Given the description of an element on the screen output the (x, y) to click on. 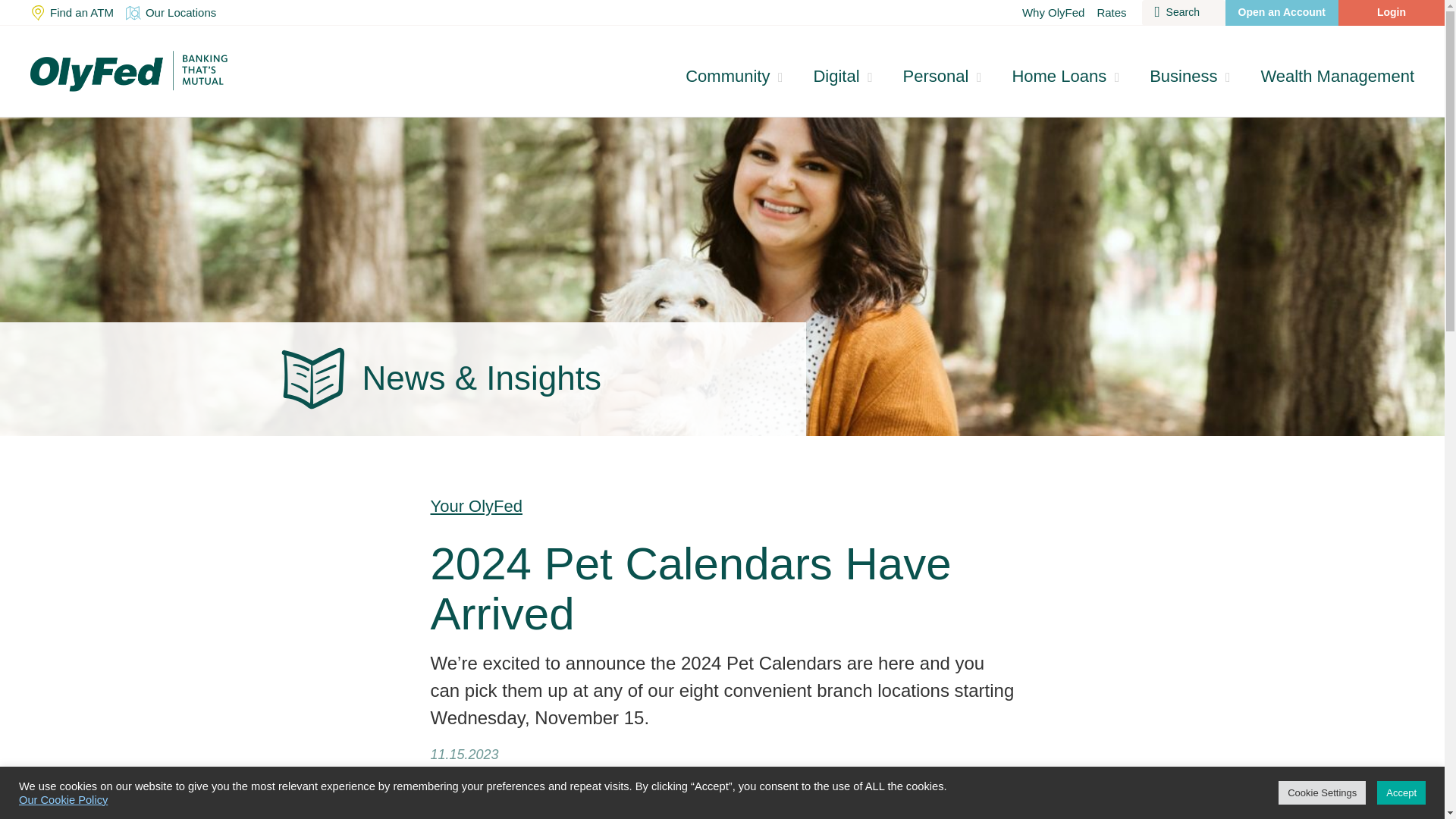
Rates (1111, 12)
Personal (942, 76)
Open an Account (1281, 12)
Community (733, 76)
Why OlyFed (1053, 12)
Search (1183, 12)
Digital (841, 76)
Our Locations (170, 12)
Find an ATM (71, 12)
